Given the description of an element on the screen output the (x, y) to click on. 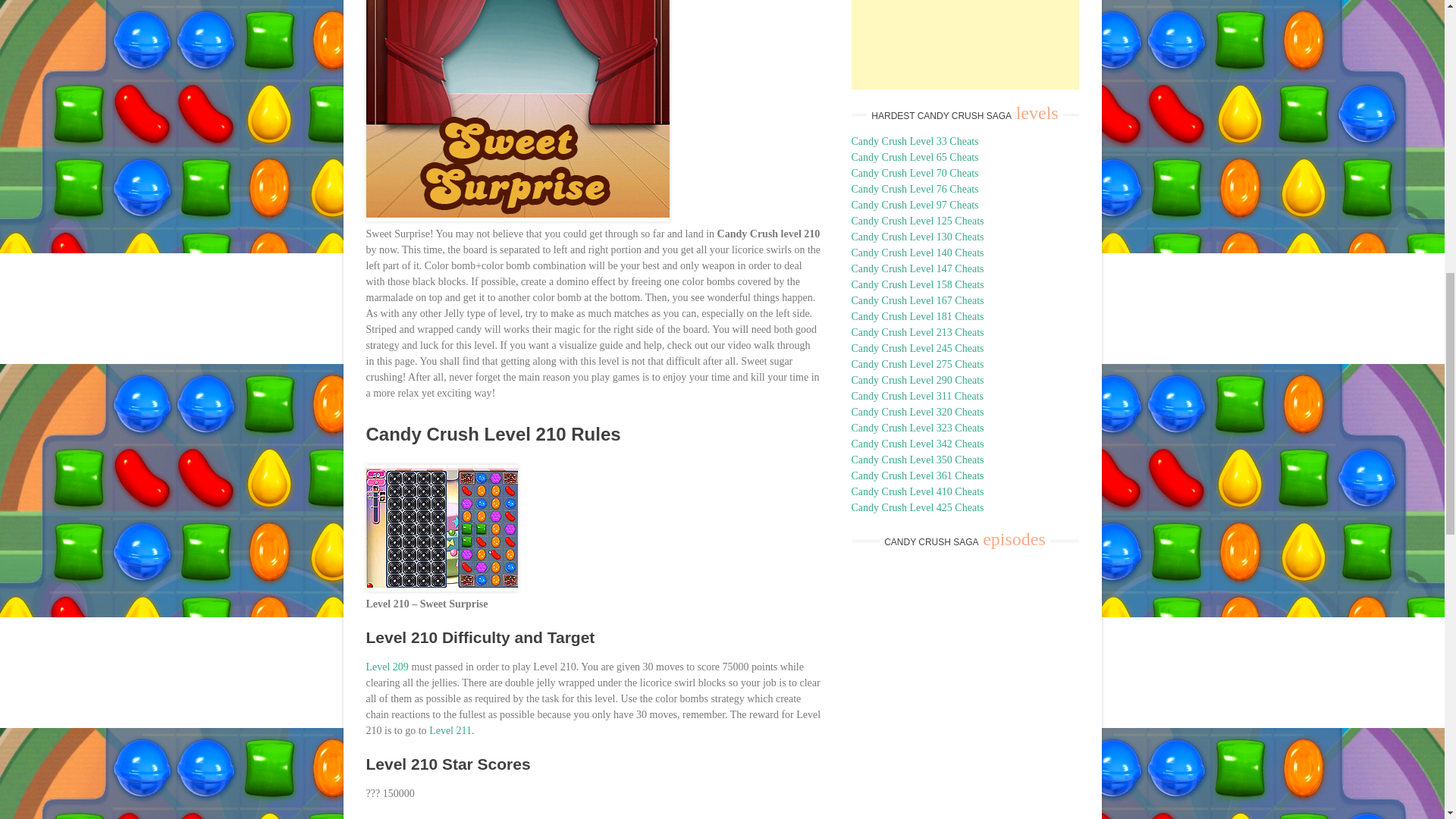
Candy Crush Level 323 Cheats (917, 428)
Advertisement (964, 44)
Candy Crush Level 213 Cheats (917, 332)
Candy Crush Level 33 Cheats (914, 141)
Candy Crush Level 158 Cheats (917, 284)
Candy Crush Level 311 Cheats (916, 396)
Level 211 (450, 730)
Candy Crush Level 65 Cheats (914, 156)
Candy Crush Level 350 Cheats (917, 460)
Candy Crush Level 320 Cheats (917, 411)
Candy Crush Saga Level 209 (386, 666)
Candy Crush Saga Level 140 Cheats (917, 252)
Candy Crush Level 130 Cheats (917, 236)
Candy Crush Level 125 Cheats (917, 220)
Candy Crush Level 410 Cheats (917, 491)
